Given the description of an element on the screen output the (x, y) to click on. 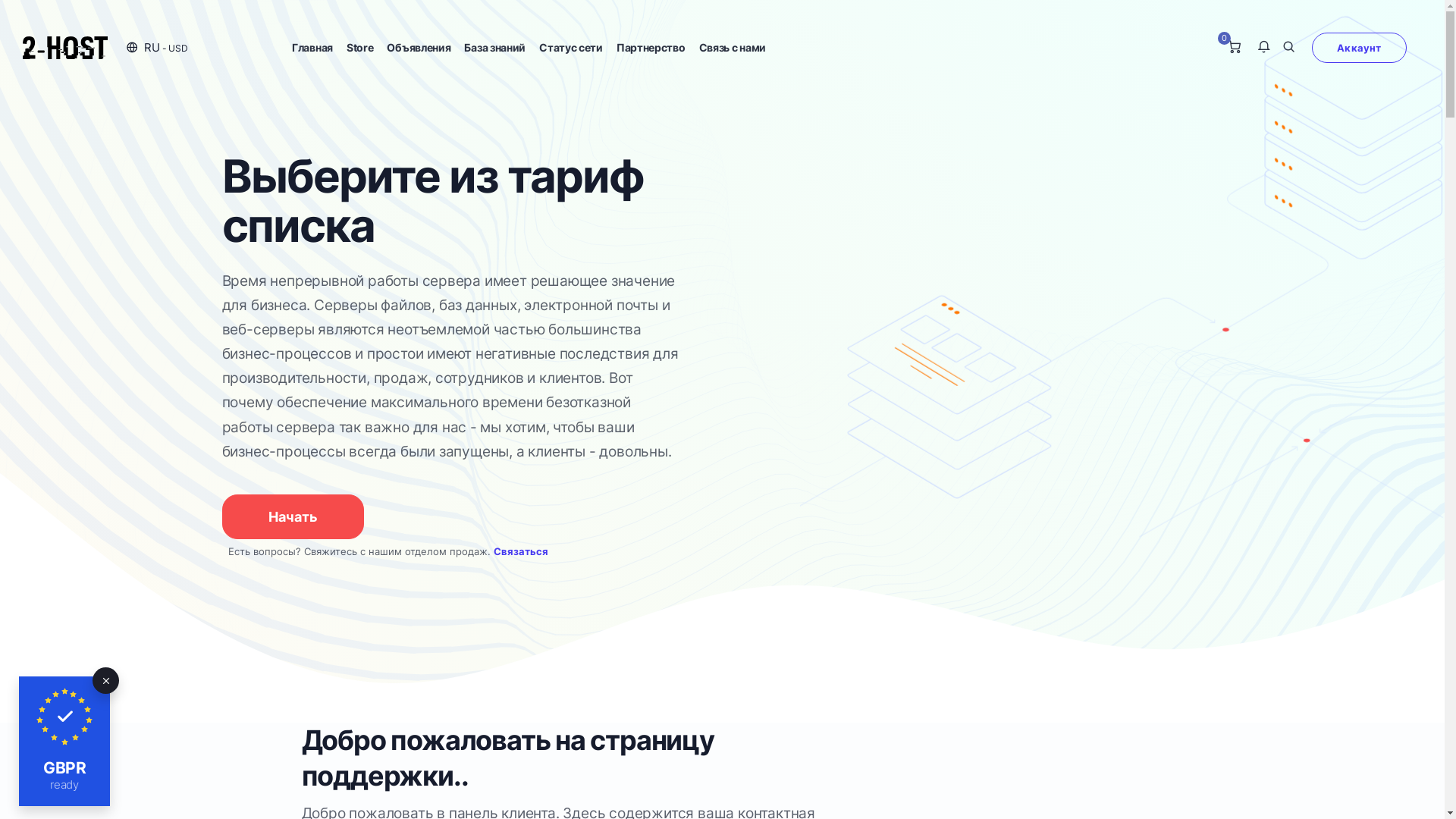
RU - USD Element type: text (157, 47)
ready Element type: text (63, 784)
Store Element type: text (359, 47)
0 Element type: text (1233, 47)
